Given the description of an element on the screen output the (x, y) to click on. 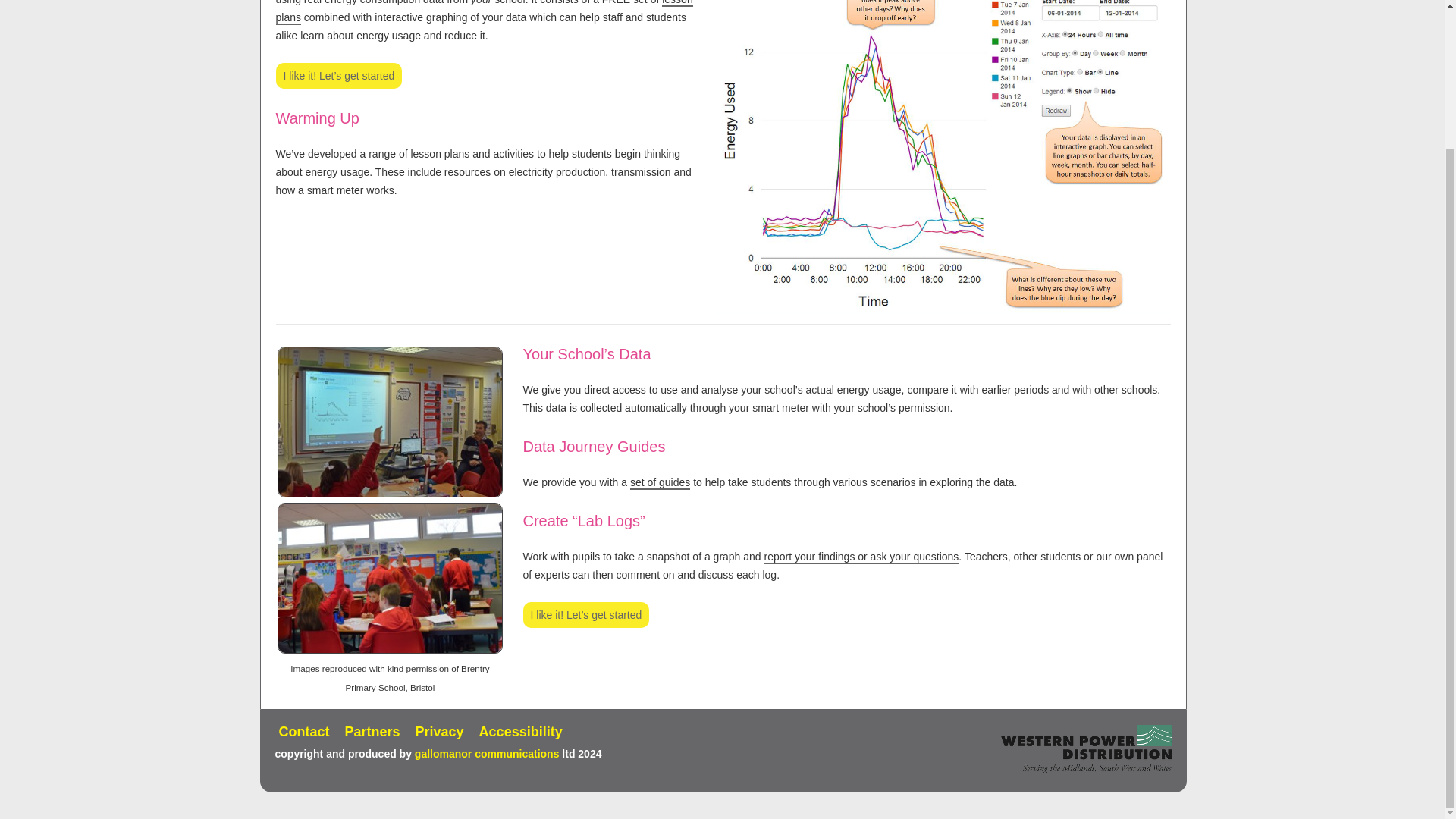
report your findings or ask your questions (861, 557)
lesson plans (484, 12)
Western Power Distribution (1086, 748)
Contact (304, 731)
Sign Up (339, 75)
Partners (370, 731)
Sign Up (585, 614)
LabLogs (861, 557)
Privacy (439, 731)
set of guides (660, 482)
